Given the description of an element on the screen output the (x, y) to click on. 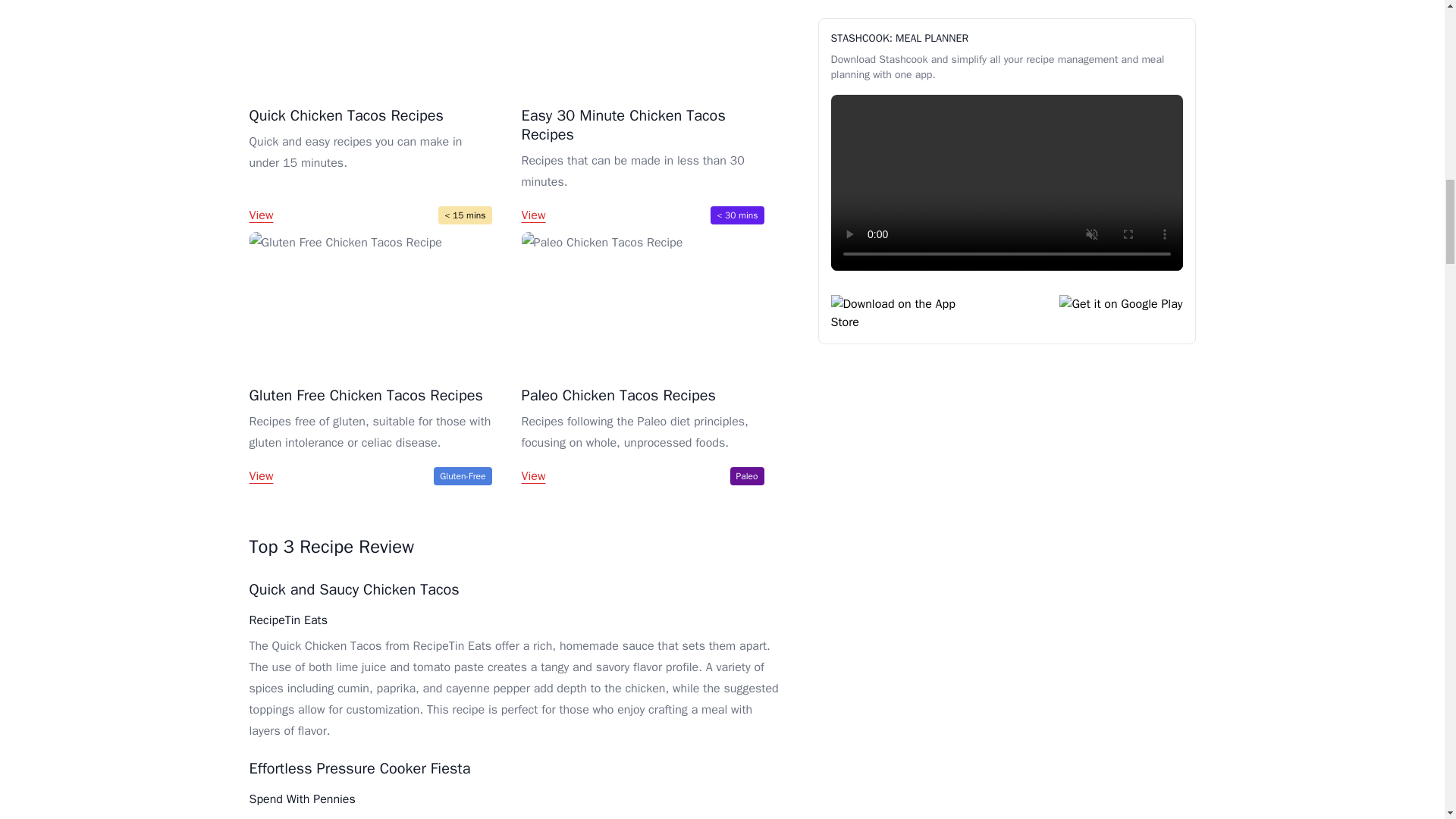
View (260, 476)
Easy 30 Minute Chicken Tacos Recipes (623, 125)
Gluten-Free (462, 475)
Recipes that can be made in less than 30 minutes. (642, 170)
Gluten Free Chicken Tacos Recipes (364, 394)
View (533, 215)
Quick Chicken Tacos Recipes (345, 115)
Quick and easy recipes you can make in under 15 minutes. (370, 161)
